Given the description of an element on the screen output the (x, y) to click on. 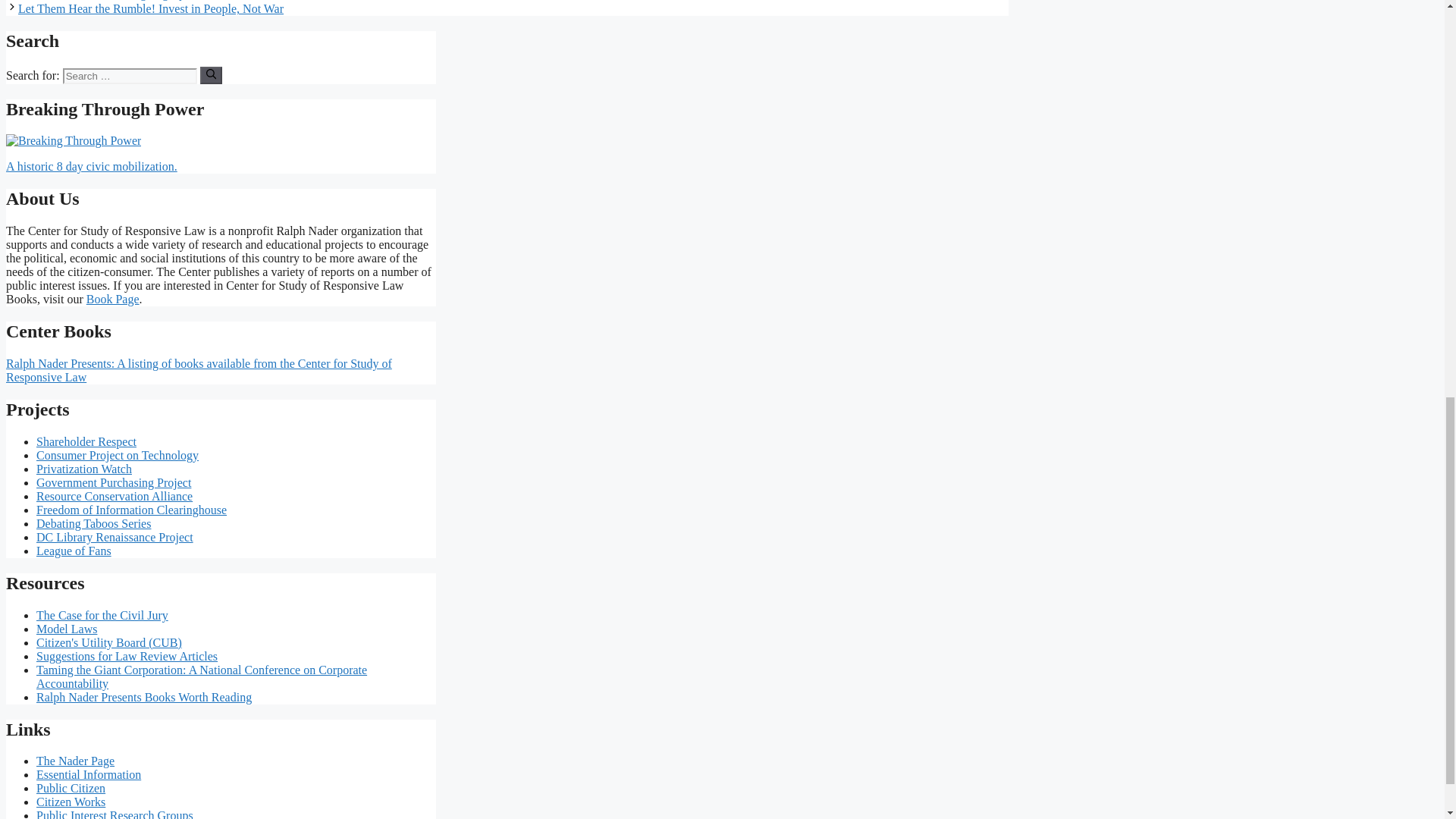
A historic 8 day civic mobilization. (91, 165)
Suggestions for Law Review Articles (126, 656)
Government Purchasing Project (113, 481)
Shareholder Respect (86, 440)
Freedom of Information Clearinghouse (131, 509)
Public Citizen (70, 788)
Citizen Works (70, 801)
Privatization Watch (84, 468)
Essential Information (88, 774)
Search for: (129, 75)
League of Fans (74, 550)
Model Laws (66, 628)
The Case for the Civil Jury (102, 615)
